Given the description of an element on the screen output the (x, y) to click on. 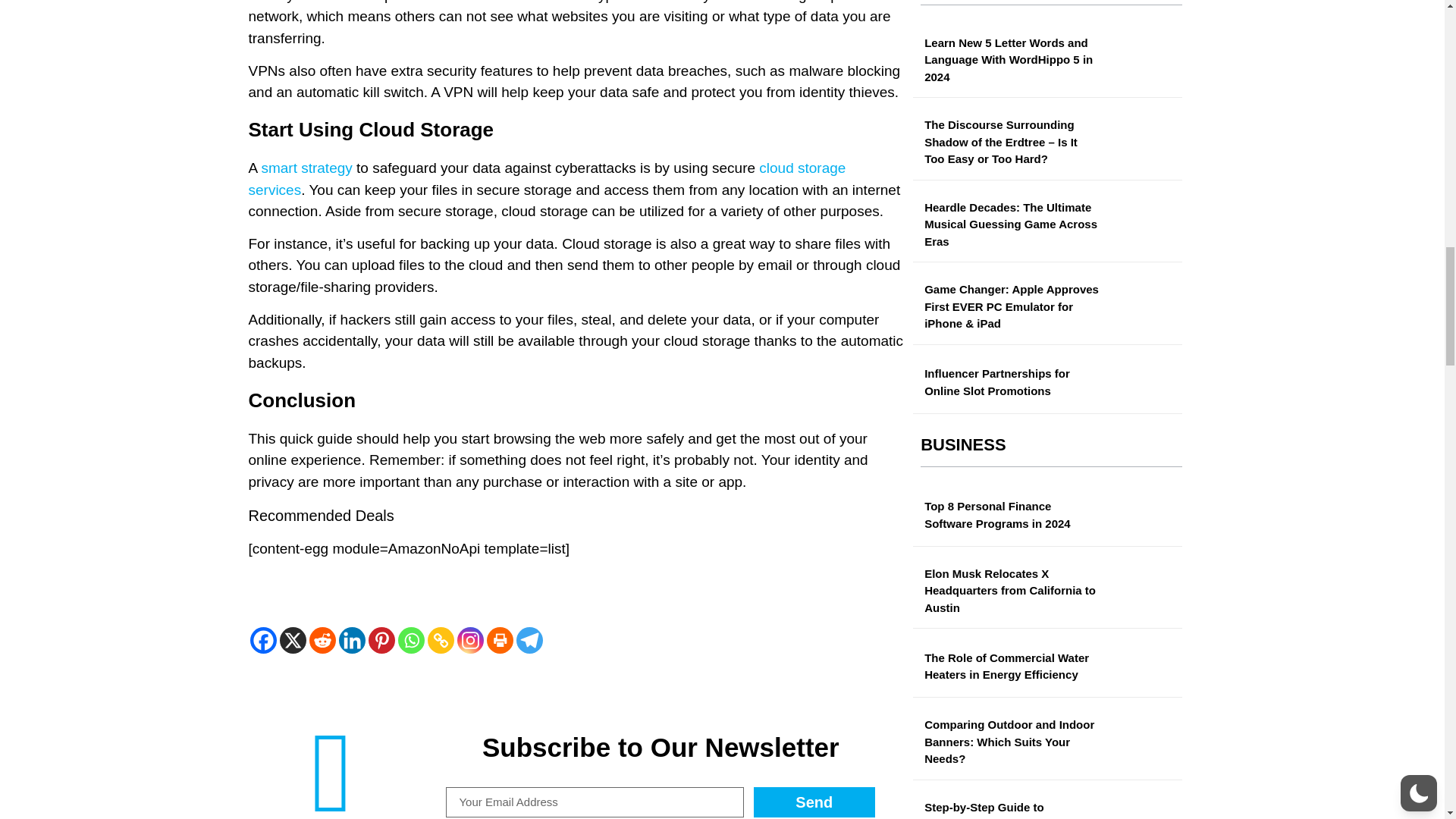
X (292, 640)
Linkedin (351, 640)
Whatsapp (410, 640)
Instagram (470, 640)
Pinterest (381, 640)
Facebook (263, 640)
Copy Link (441, 640)
Reddit (322, 640)
